Given the description of an element on the screen output the (x, y) to click on. 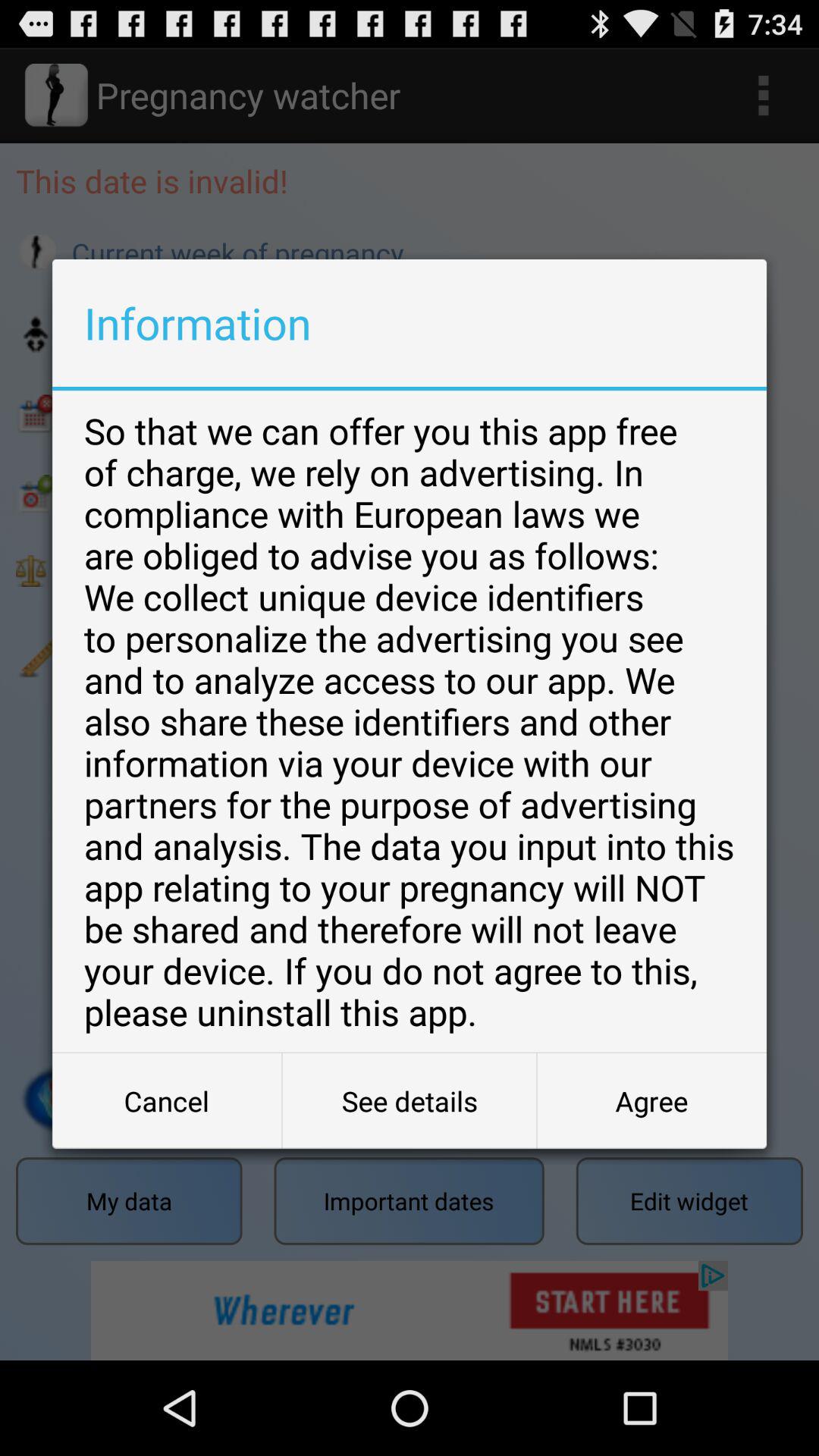
flip until cancel icon (166, 1100)
